Given the description of an element on the screen output the (x, y) to click on. 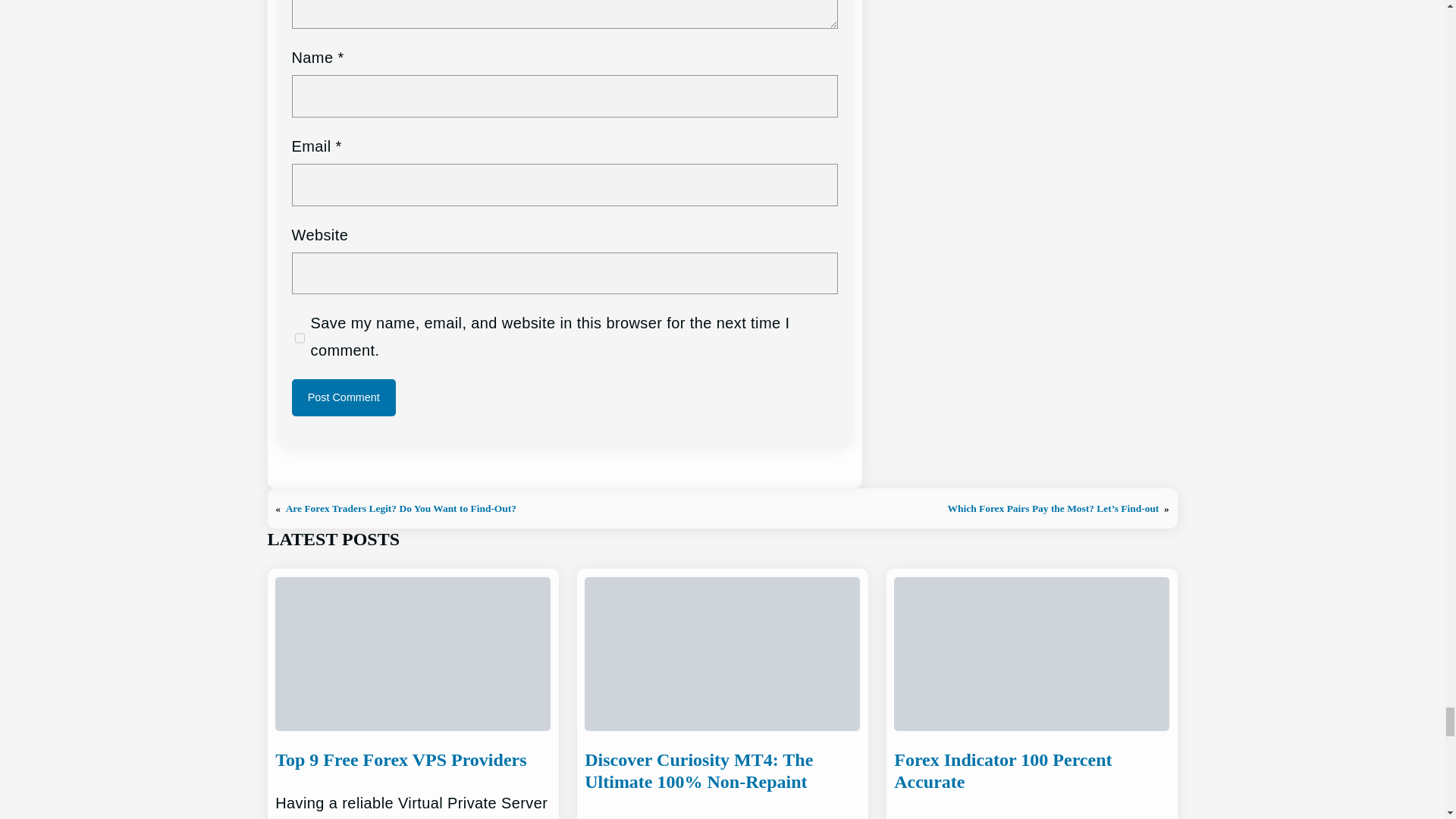
Post Comment (343, 397)
